Given the description of an element on the screen output the (x, y) to click on. 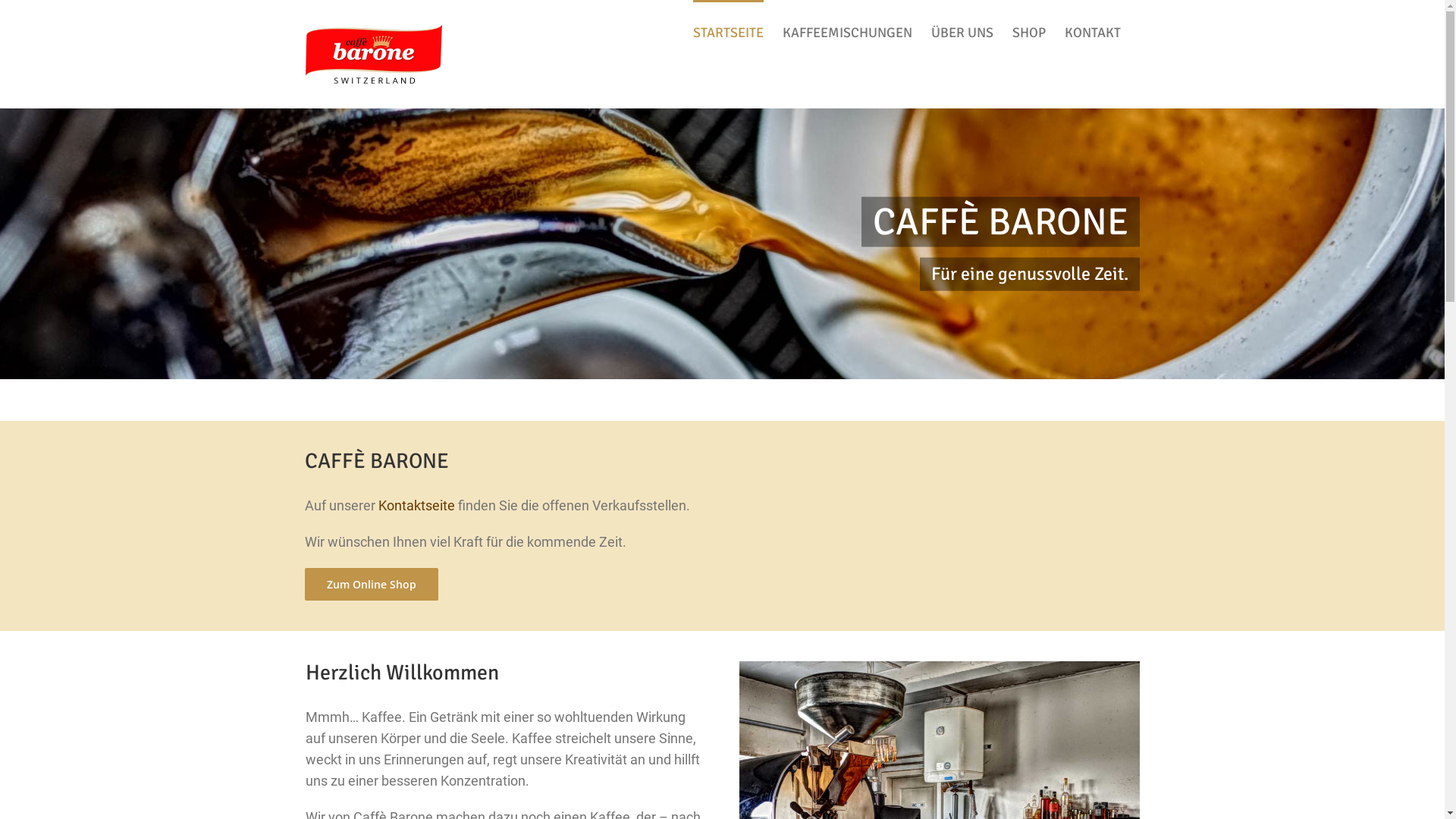
Kontaktseite Element type: text (416, 505)
KAFFEEMISCHUNGEN Element type: text (847, 31)
Zum Online Shop Element type: text (371, 583)
KONTAKT Element type: text (1092, 31)
SHOP Element type: text (1027, 31)
STARTSEITE Element type: text (728, 31)
